Given the description of an element on the screen output the (x, y) to click on. 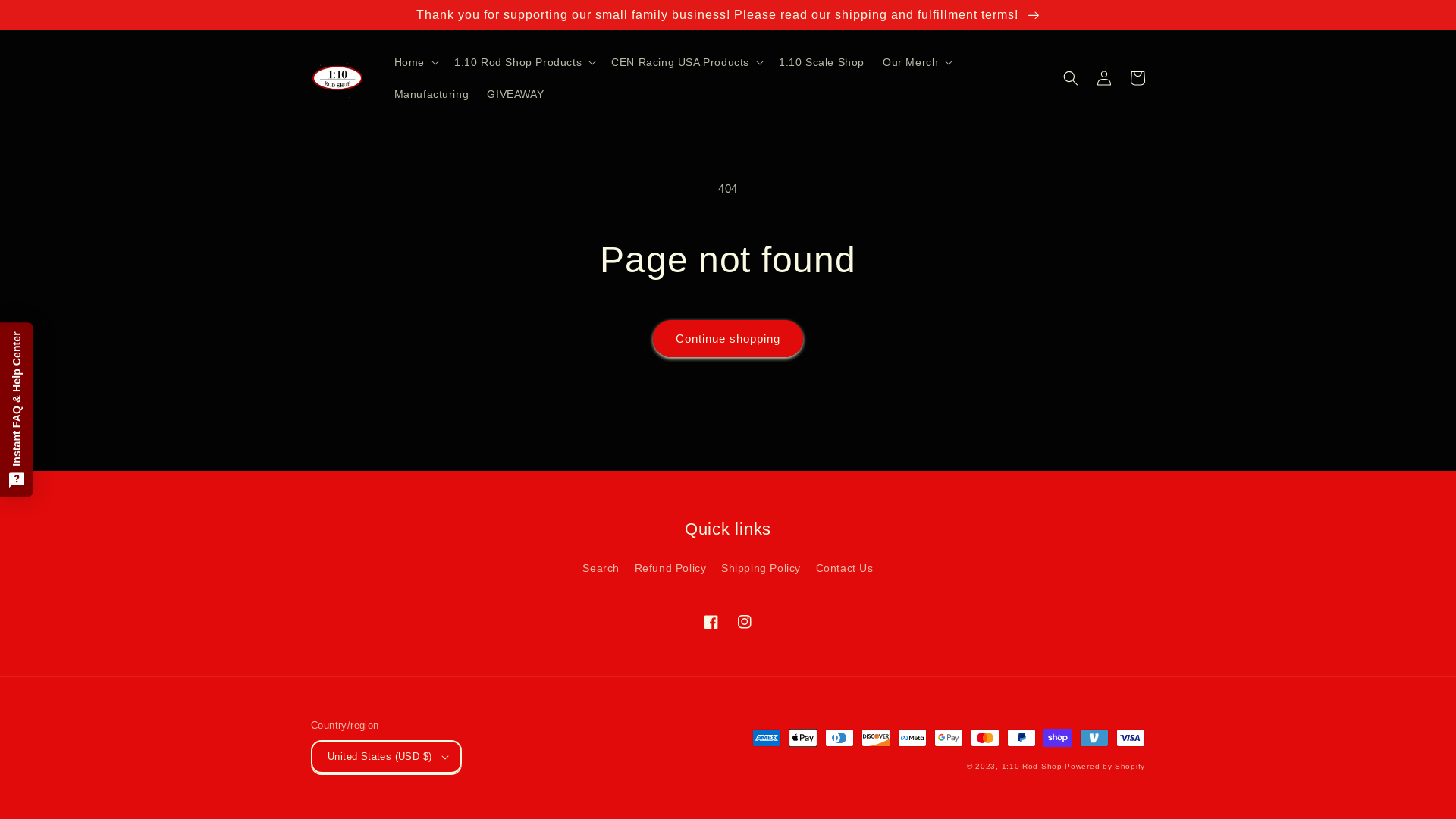
Log in Element type: text (1103, 77)
Search Element type: text (600, 569)
Refund Policy Element type: text (670, 568)
Manufacturing Element type: text (431, 93)
1:10 Scale Shop Element type: text (821, 62)
Powered by Shopify Element type: text (1104, 766)
United States (USD $) Element type: text (385, 756)
GIVEAWAY Element type: text (514, 93)
Cart Element type: text (1137, 77)
1:10 Rod Shop Element type: text (1031, 766)
Contact Us Element type: text (844, 568)
Instagram Element type: text (744, 621)
Shipping Policy Element type: text (760, 568)
Continue shopping Element type: text (727, 338)
Facebook Element type: text (711, 621)
